Given the description of an element on the screen output the (x, y) to click on. 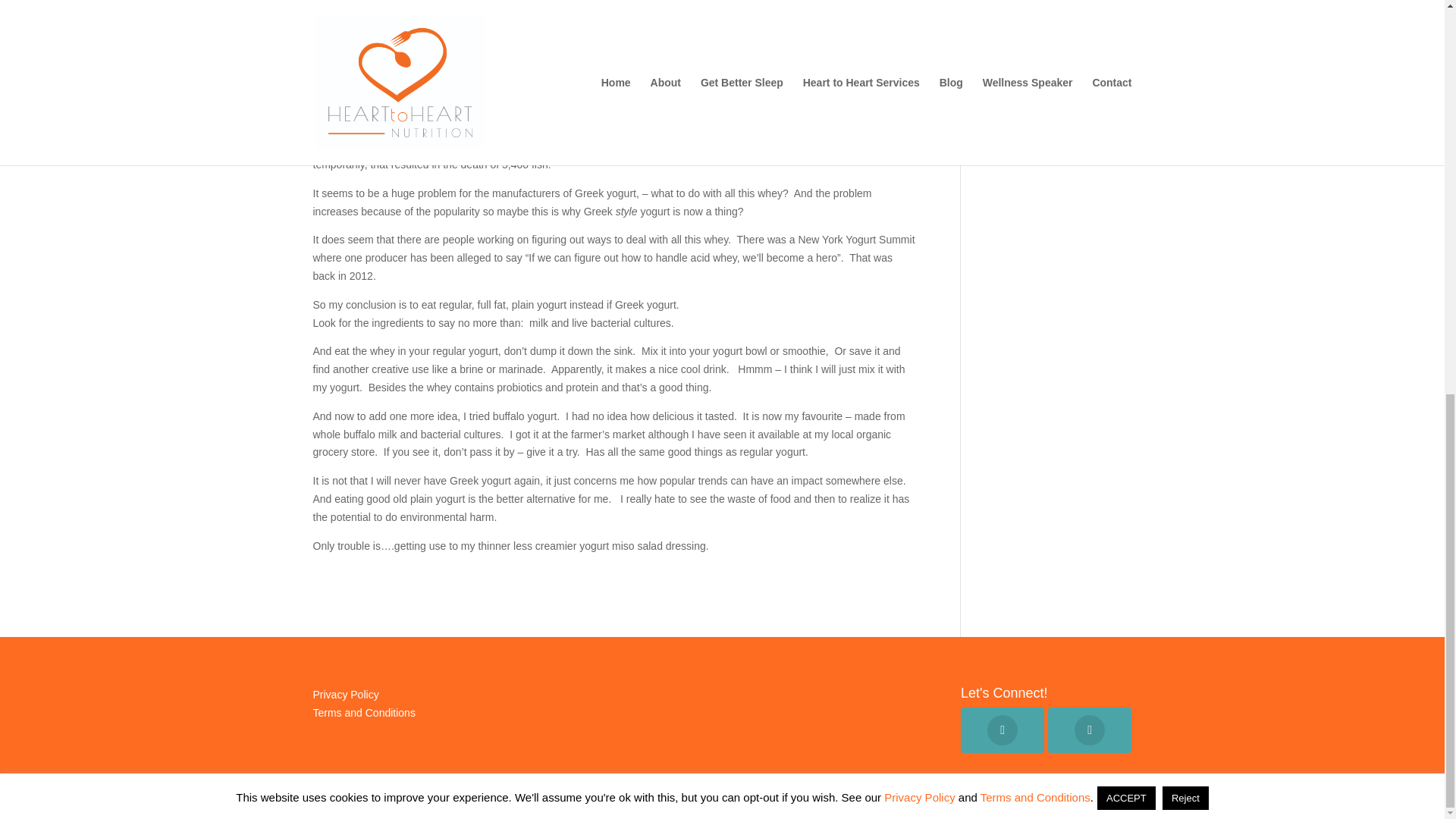
Terms and Conditions (363, 712)
Privacy Policy (919, 38)
Terms and Conditions (1034, 38)
Reject (1184, 39)
ACCEPT (1126, 39)
Privacy Policy (345, 694)
